Given the description of an element on the screen output the (x, y) to click on. 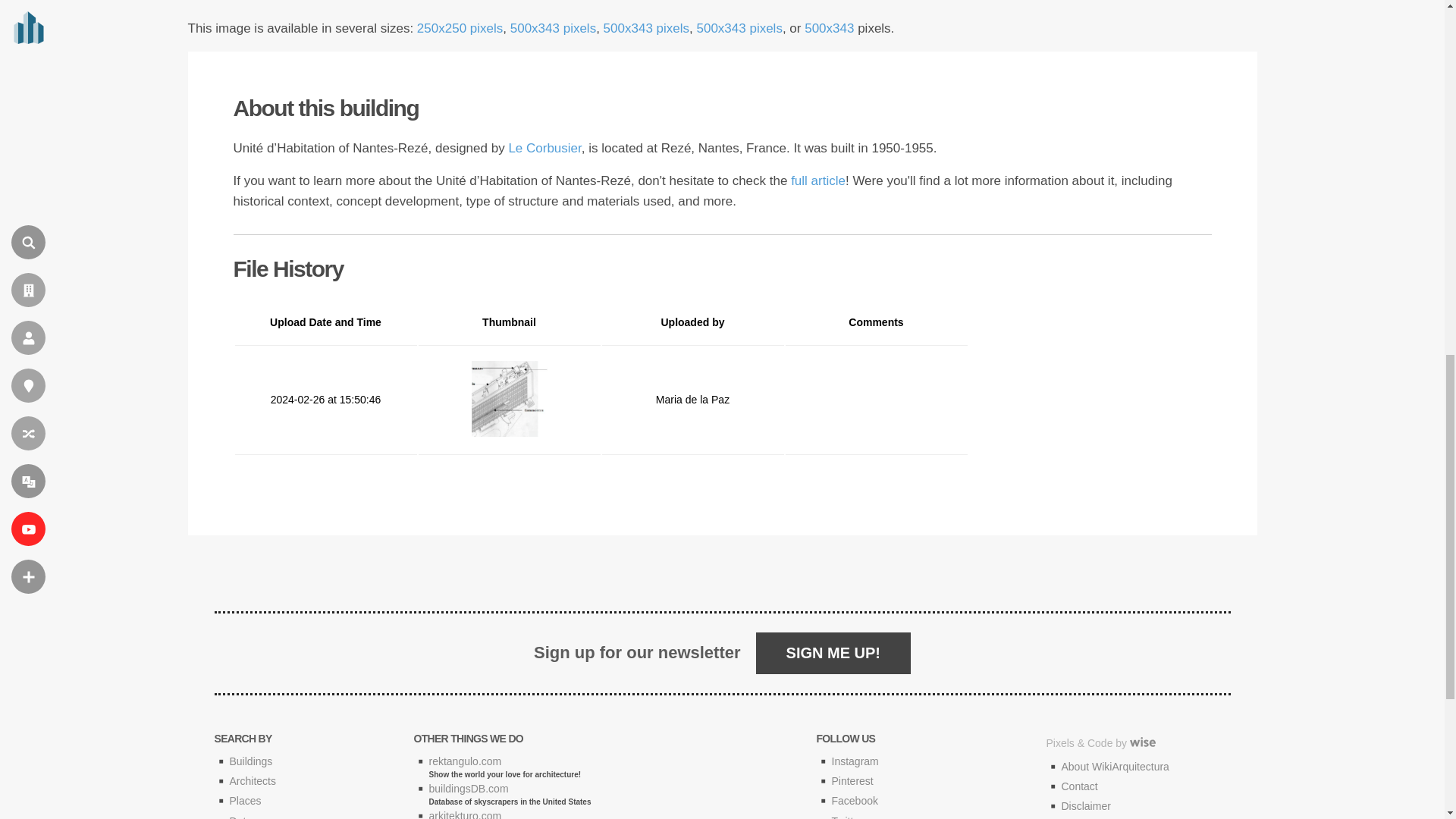
SIGN ME UP! (833, 653)
500x343 pixels (738, 28)
500x343 pixels (553, 28)
Architects (251, 780)
250x250 pixels (459, 28)
Buildings (250, 761)
Le Corbusier (544, 147)
500x343 pixels (646, 28)
500x343 (829, 28)
full article (817, 180)
